Given the description of an element on the screen output the (x, y) to click on. 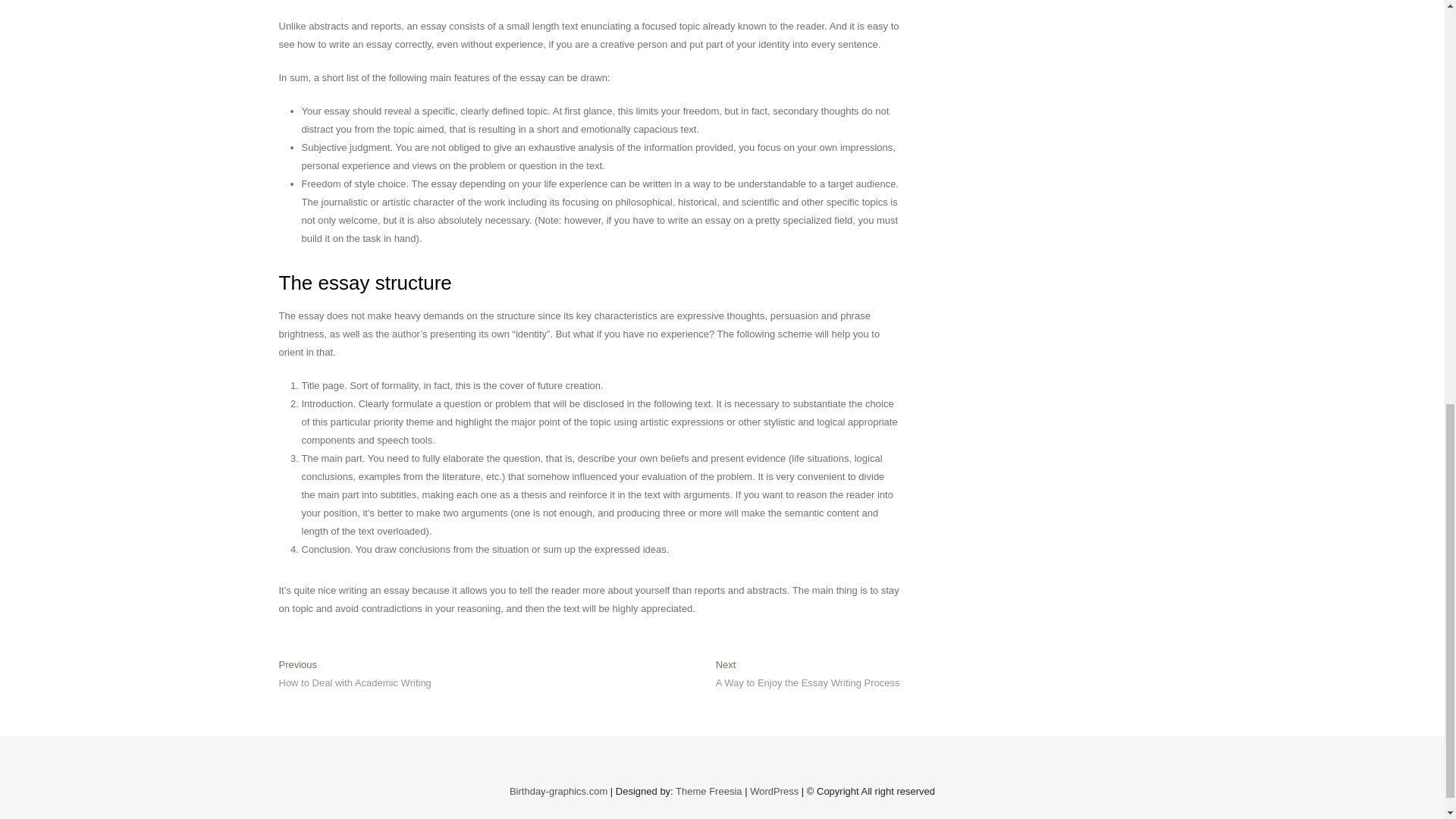
WordPress (773, 790)
Birthday-graphics.com (807, 675)
WordPress (558, 790)
Theme Freesia (354, 675)
Theme Freesia (773, 790)
Birthday-graphics.com (708, 790)
